Given the description of an element on the screen output the (x, y) to click on. 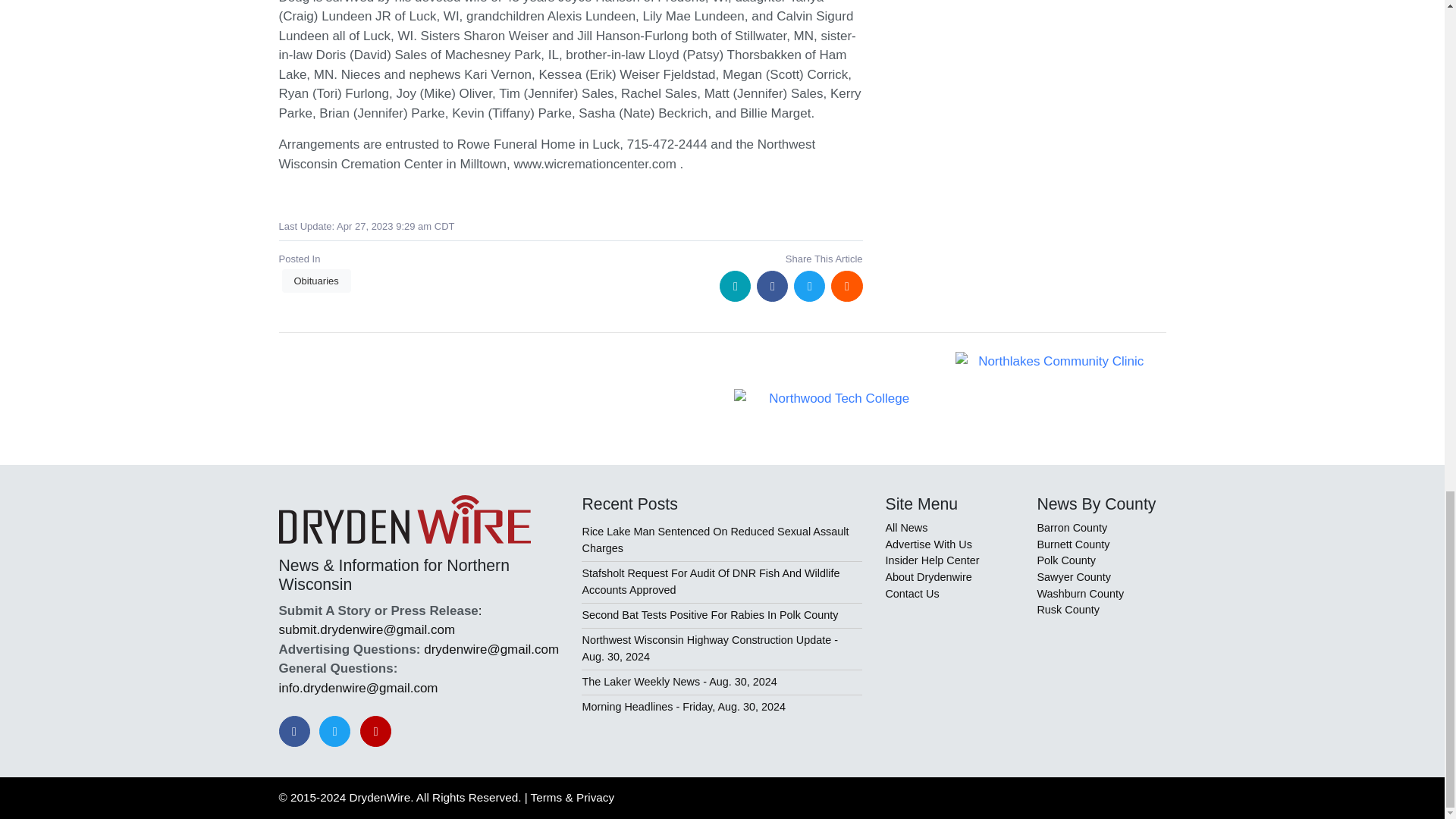
Northwood Tech College (833, 398)
twitter (809, 286)
email (735, 286)
Northlakes Community Clinic (1054, 361)
reddit (846, 286)
facebook (772, 286)
